Given the description of an element on the screen output the (x, y) to click on. 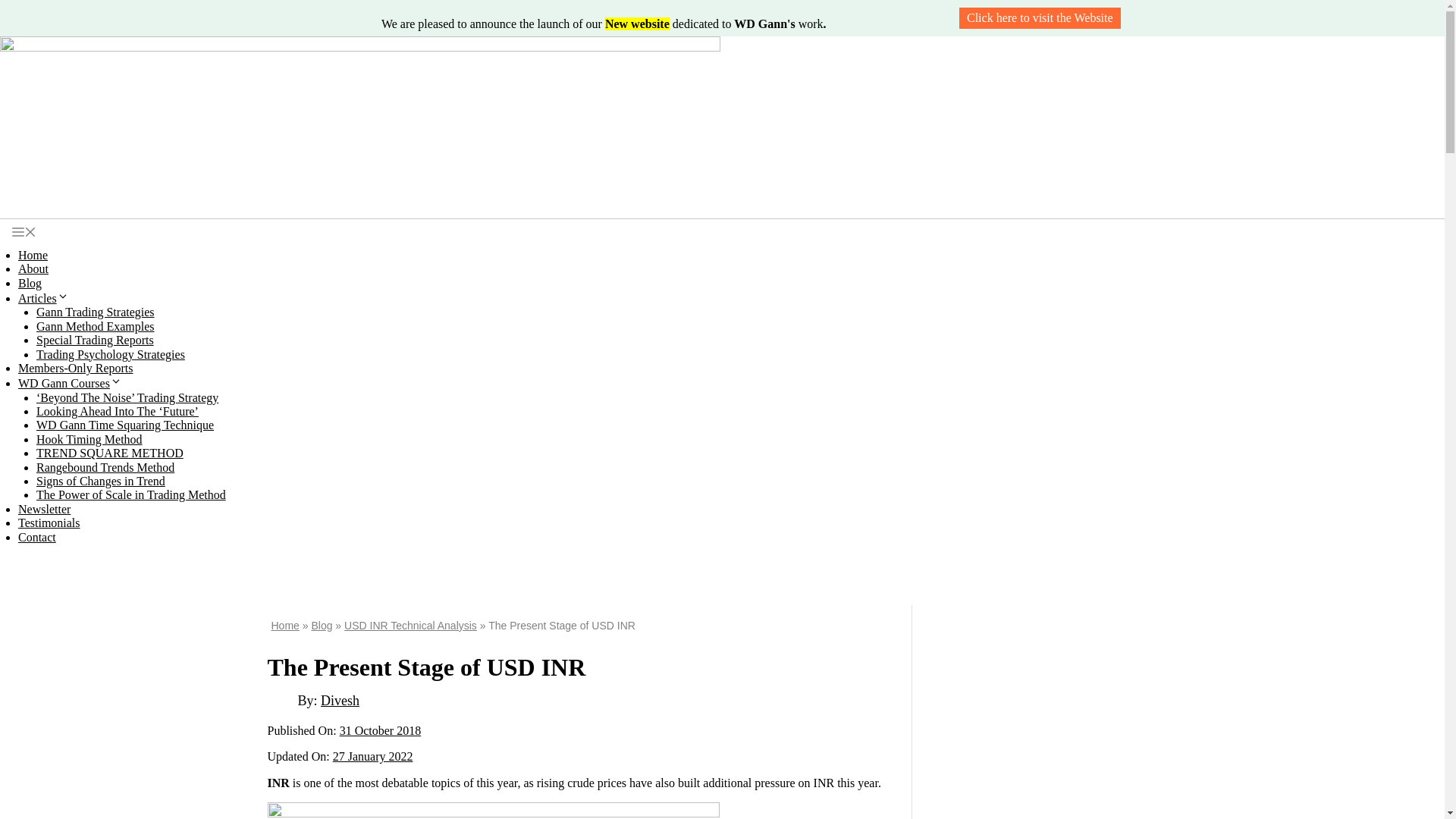
Home (32, 254)
Click here to visit the Website (1040, 17)
INR-Daily (492, 810)
Blog (29, 282)
Gann Trading Strategies (95, 311)
Members-Only Reports (75, 367)
Special Trading Reports (95, 339)
WD Gann Courses (69, 382)
WD Gann Time Squaring Technique (125, 424)
Trading Psychology Strategies (110, 353)
Menu (24, 233)
Gann Method Examples (95, 326)
Articles (42, 297)
About (32, 268)
